Given the description of an element on the screen output the (x, y) to click on. 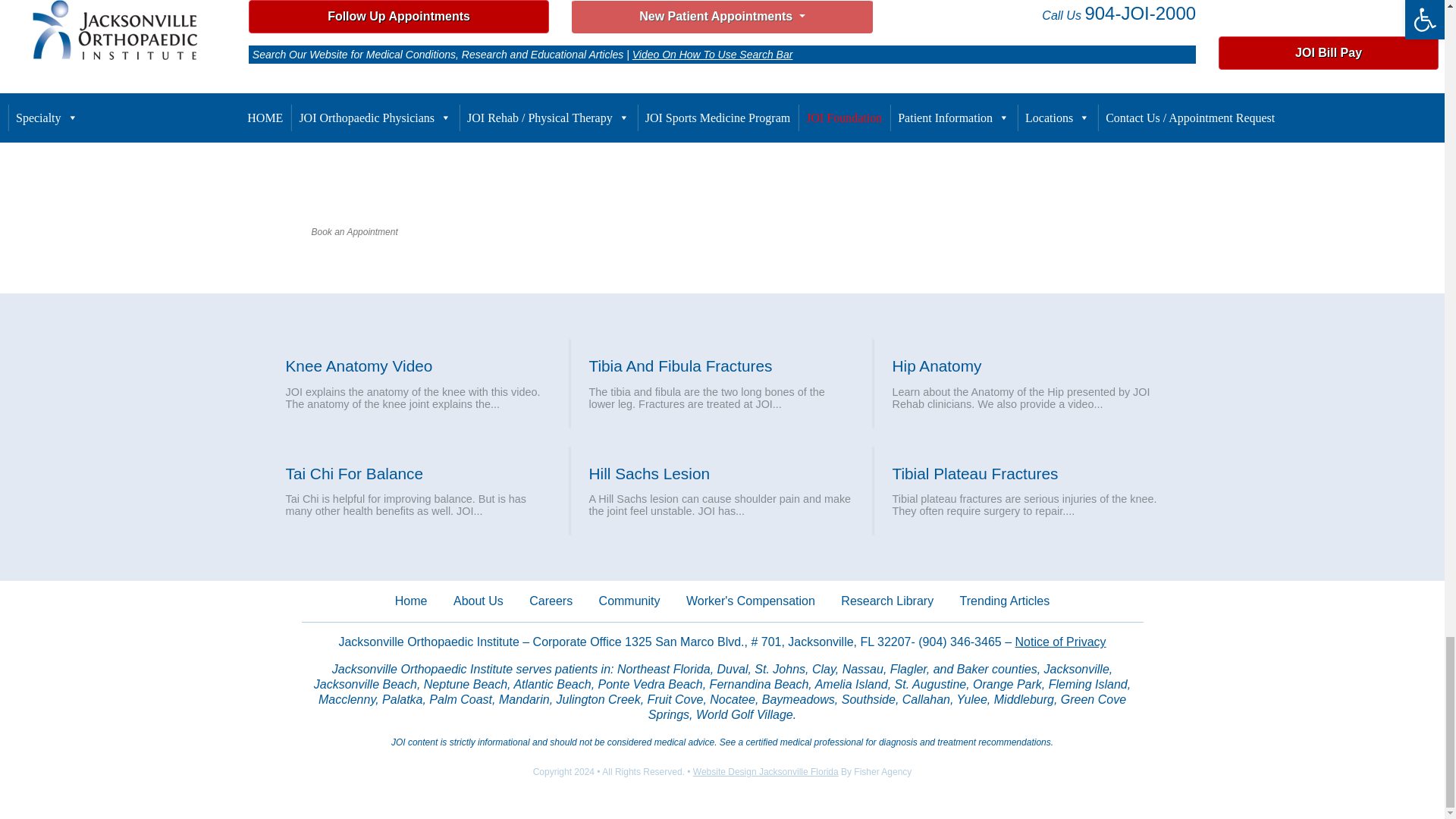
Google conversion frame (75, 803)
